Given the description of an element on the screen output the (x, y) to click on. 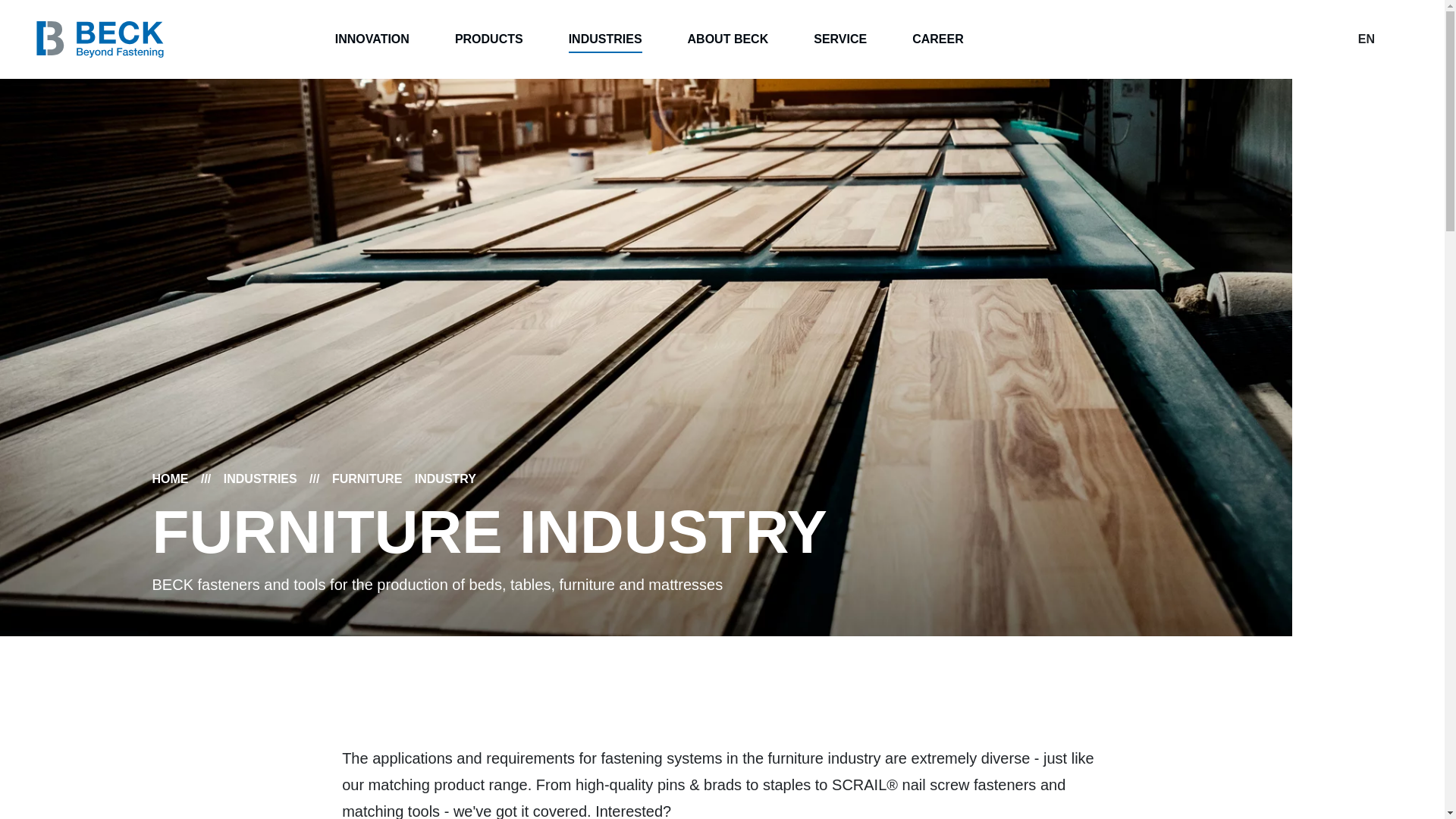
English (1366, 38)
Search (1400, 38)
INNOVATION (371, 39)
PRODUCTS (488, 39)
INDUSTRIES (605, 39)
